Given the description of an element on the screen output the (x, y) to click on. 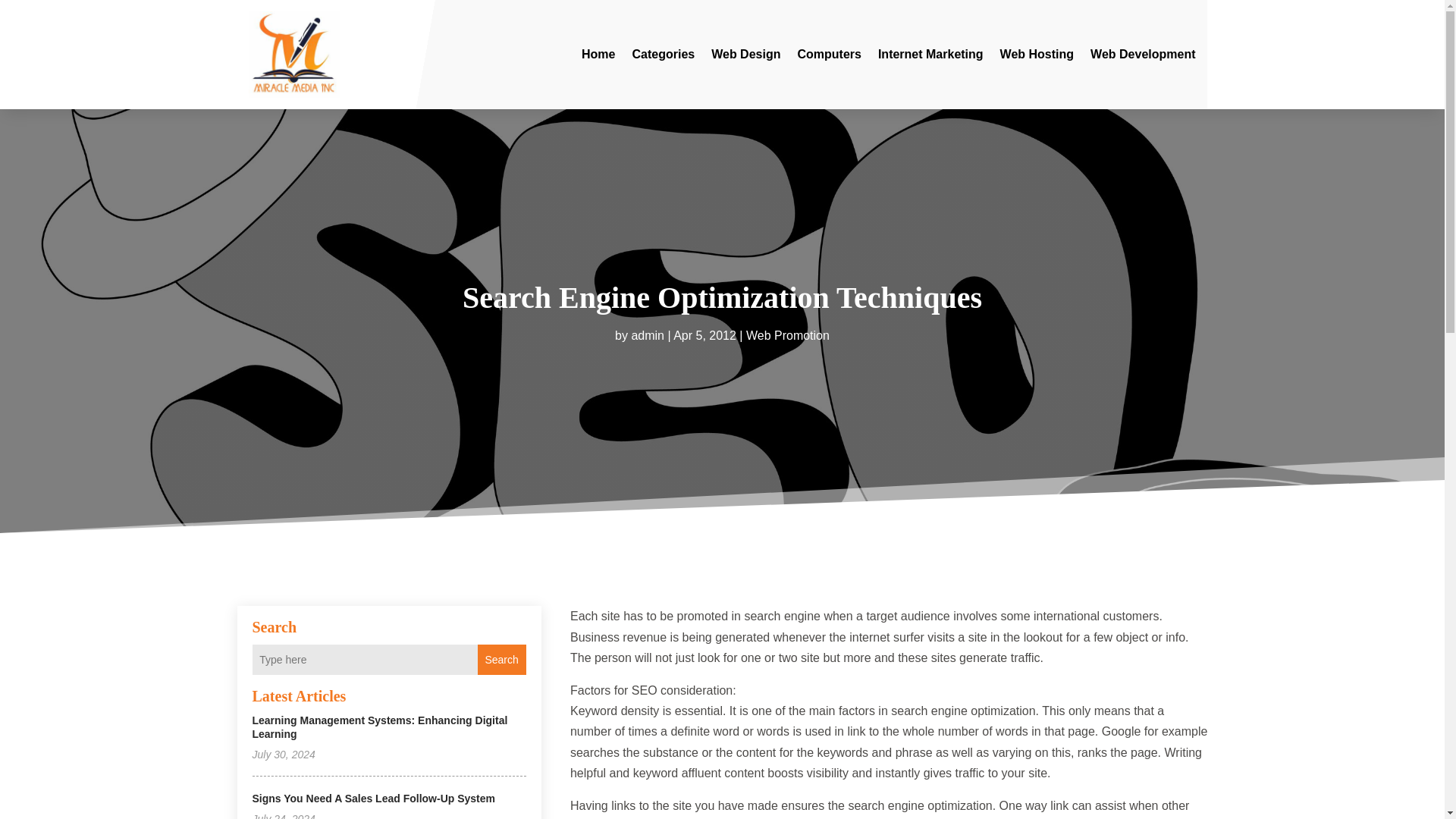
Web Development (1142, 54)
Posts by admin (646, 335)
Learning Management Systems: Enhancing Digital Learning (378, 727)
Web Promotion (787, 335)
Signs You Need A Sales Lead Follow-Up System (373, 798)
admin (646, 335)
Internet Marketing (930, 54)
Search (501, 659)
